Given the description of an element on the screen output the (x, y) to click on. 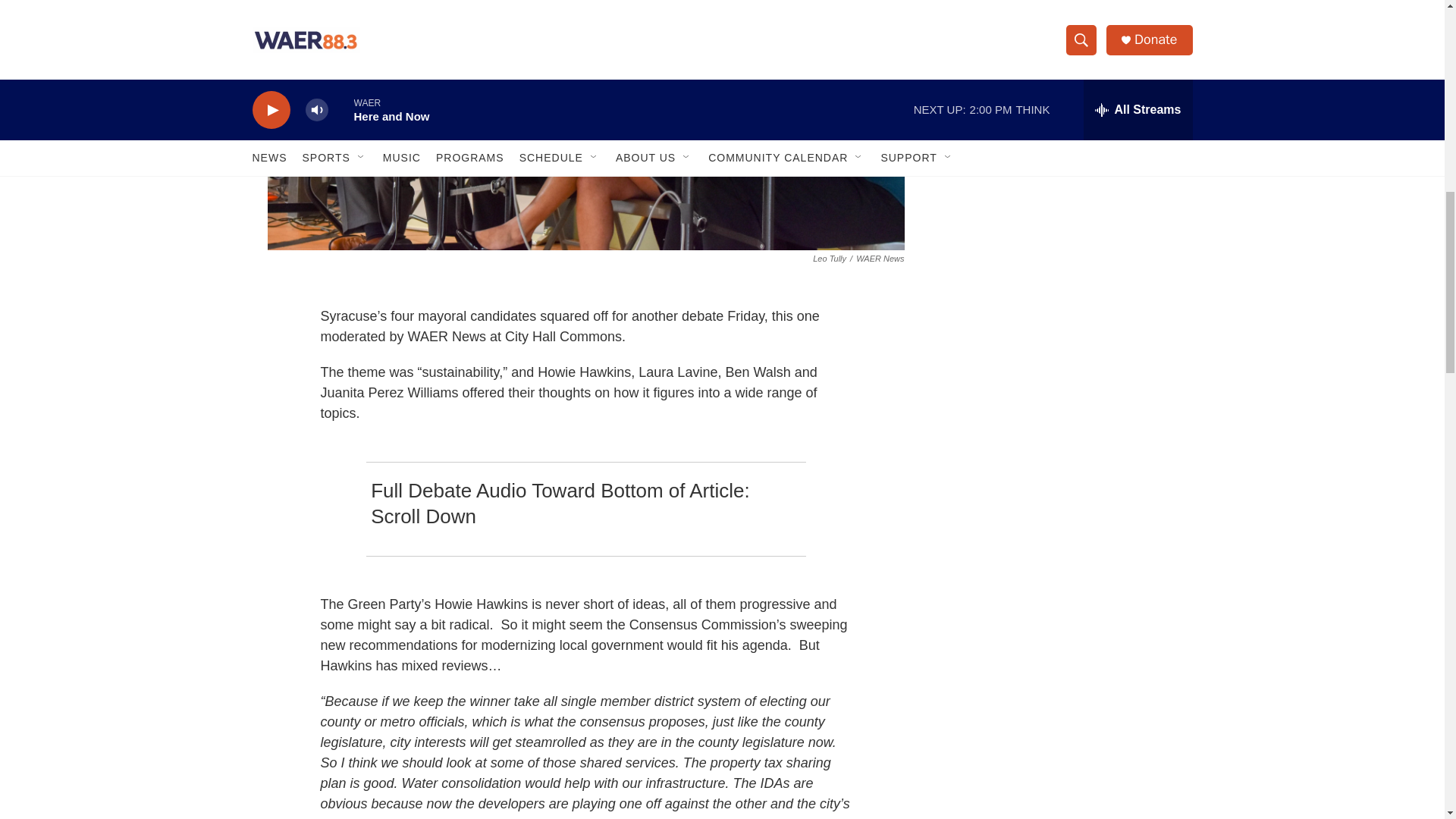
3rd party ad content (1062, 16)
